Given the description of an element on the screen output the (x, y) to click on. 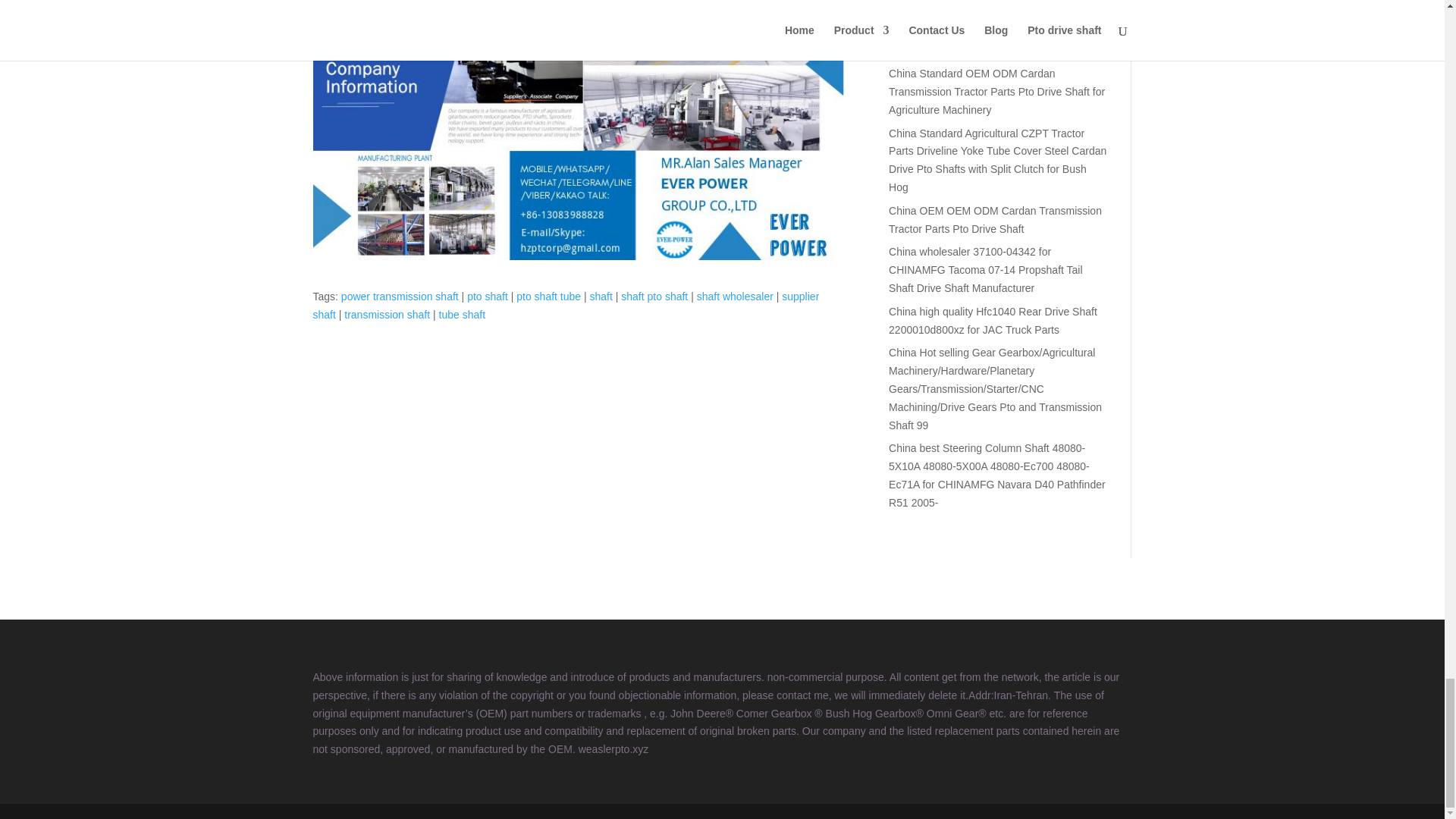
supplier shaft (565, 305)
power transmission shaft (399, 296)
pto shaft tube (548, 296)
transmission shaft (386, 314)
shaft wholesaler (735, 296)
shaft (600, 296)
pto shaft (487, 296)
shaft pto shaft (654, 296)
tube shaft (462, 314)
